Given the description of an element on the screen output the (x, y) to click on. 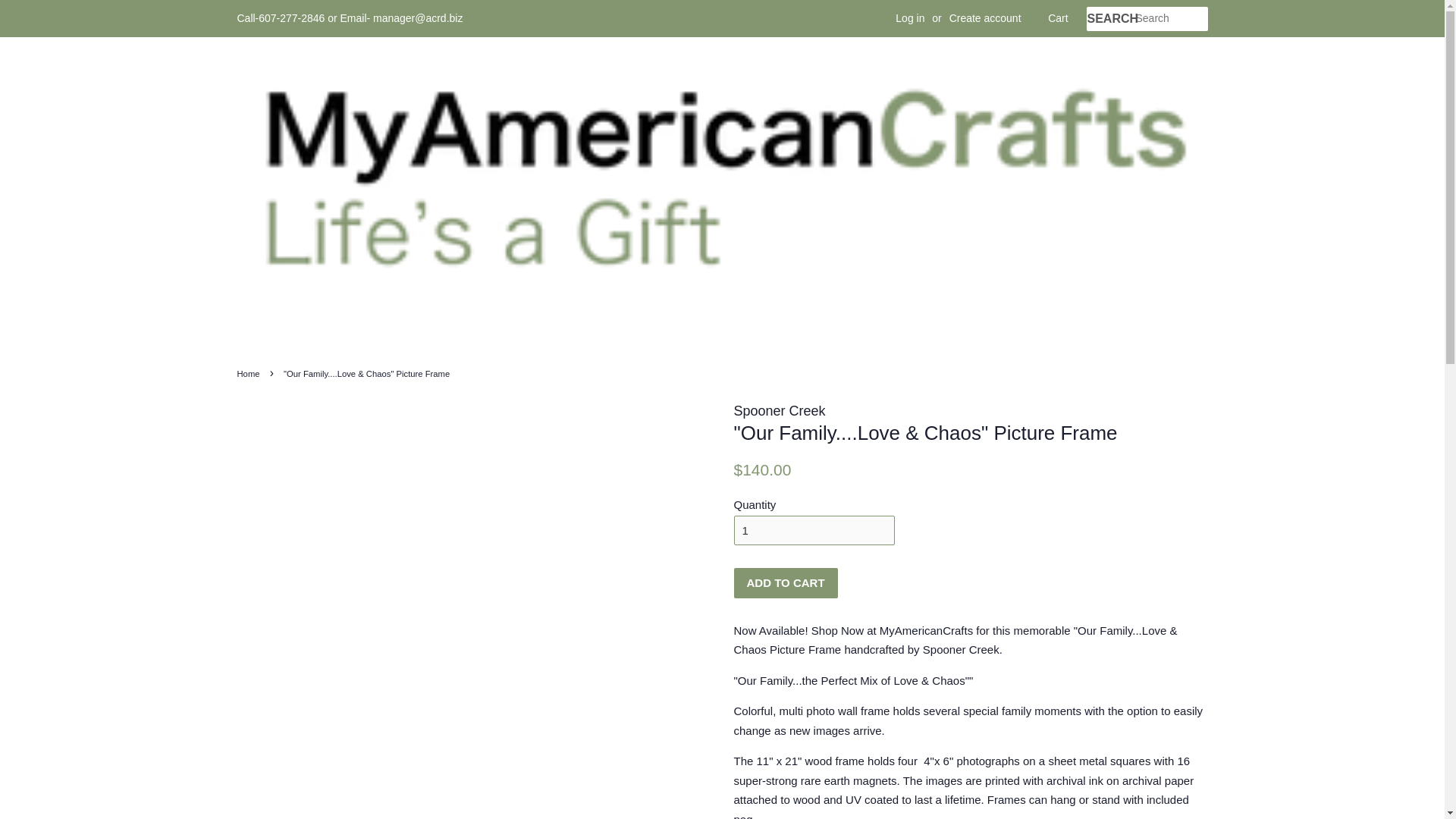
SEARCH (1110, 18)
Log in (909, 18)
Cart (1057, 18)
Back to the frontpage (249, 373)
1 (814, 530)
Create account (985, 18)
